Given the description of an element on the screen output the (x, y) to click on. 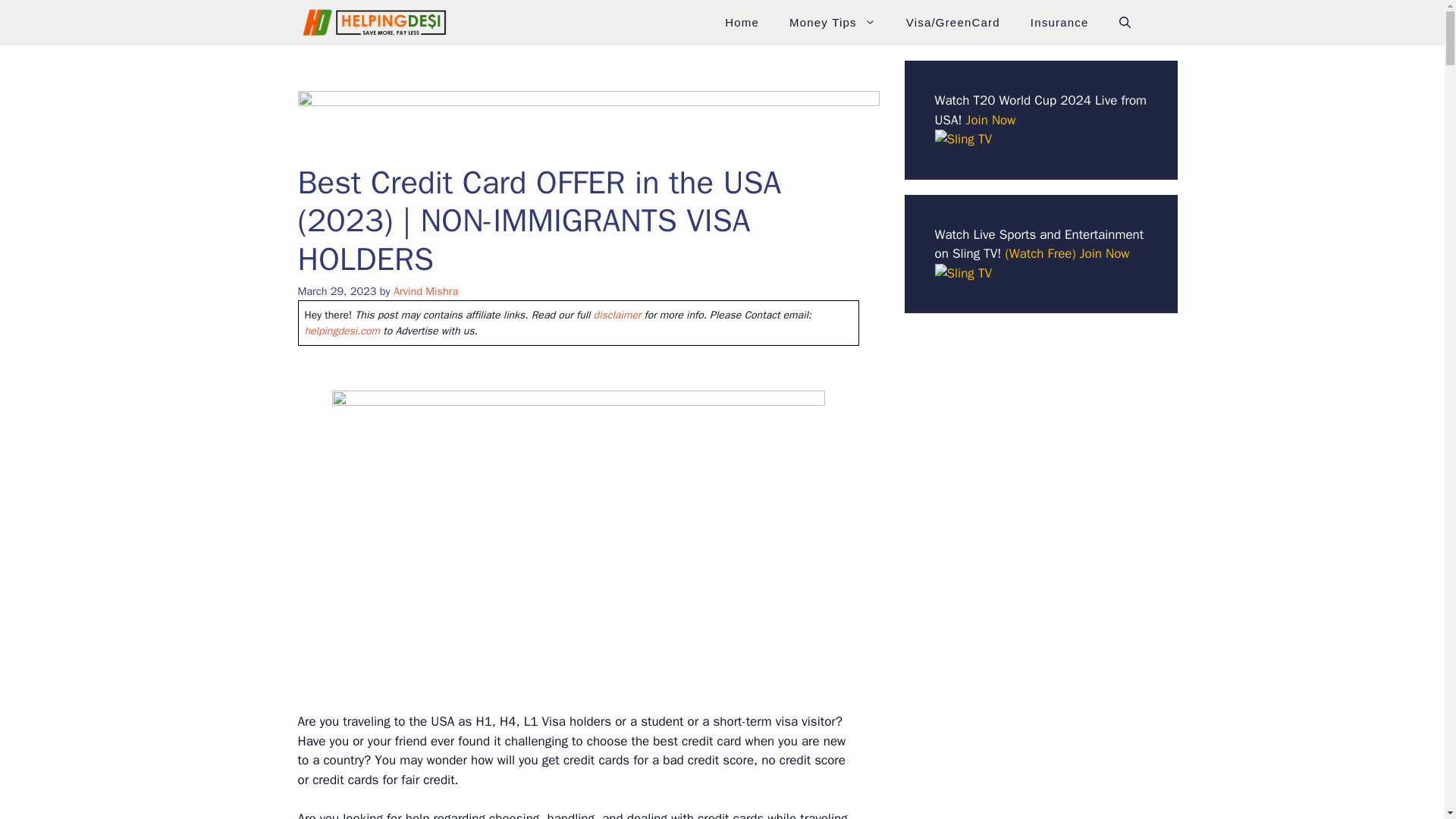
View all posts by Arvind Mishra (425, 291)
disclaimer (618, 314)
Join Now (991, 119)
Arvind Mishra (425, 291)
Money Tips (832, 22)
Helpingdesi (372, 22)
helpingdesi.com (342, 330)
Insurance (1058, 22)
Home (742, 22)
